Given the description of an element on the screen output the (x, y) to click on. 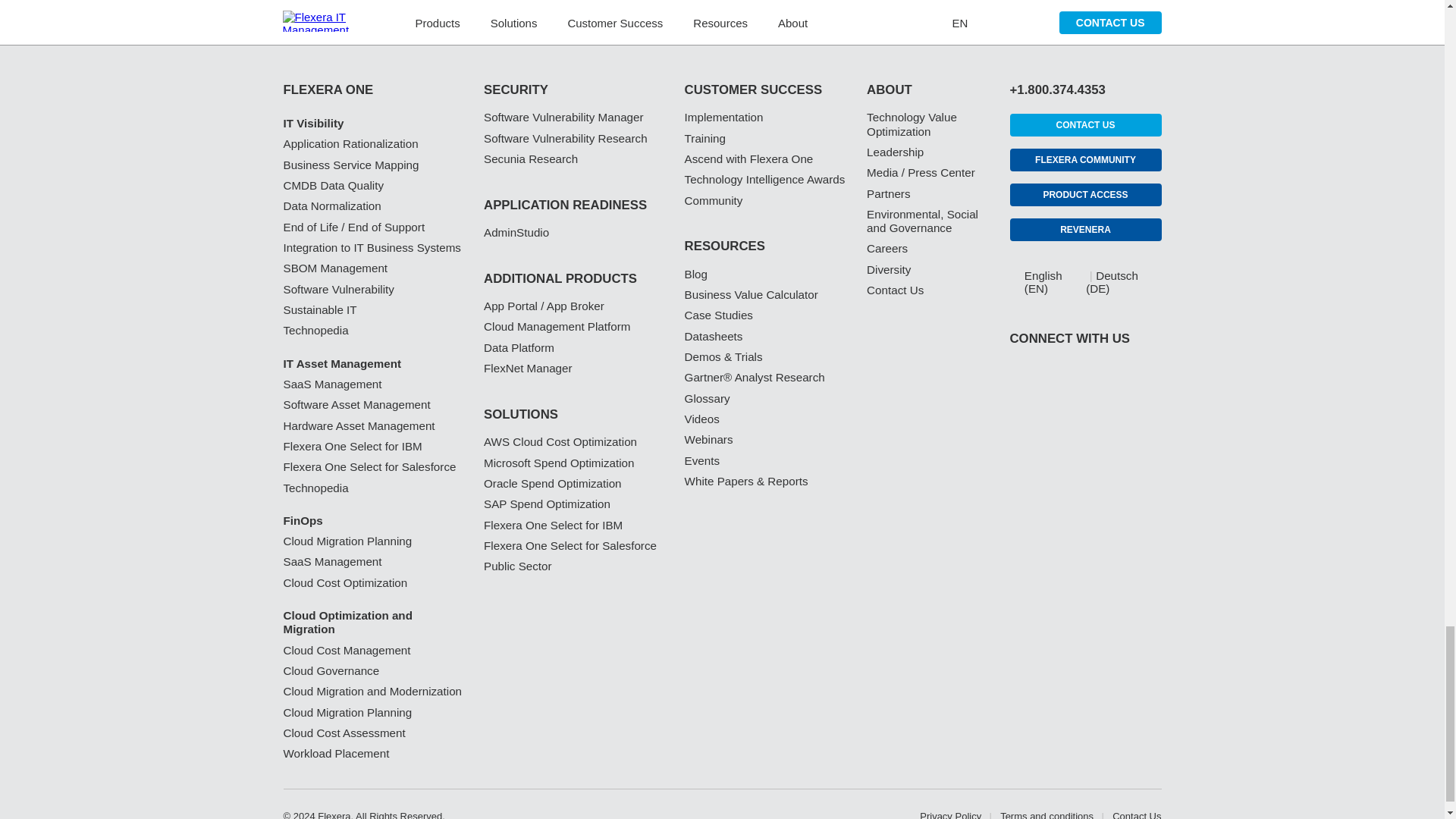
LinkedIn (1018, 413)
YouTube (1107, 413)
Twitter (1062, 413)
Instagram (1152, 413)
